Given the description of an element on the screen output the (x, y) to click on. 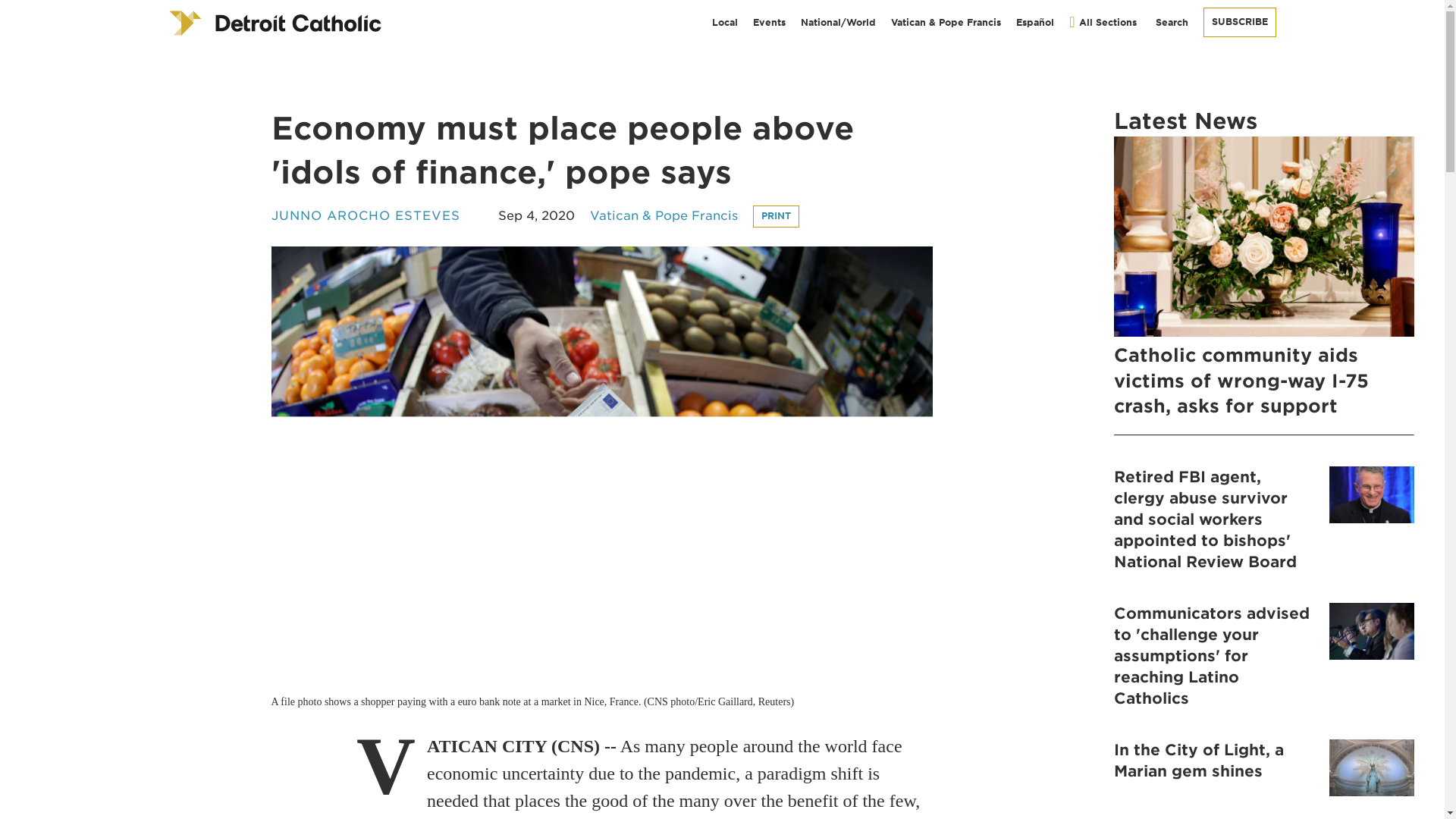
PRINT (774, 216)
Local (724, 22)
SUBSCRIBE (1238, 21)
JUNNO AROCHO ESTEVES (365, 216)
All Sections (1101, 22)
Search (1168, 22)
Events (769, 22)
In the City of Light, a Marian gem shines (1263, 770)
